Given the description of an element on the screen output the (x, y) to click on. 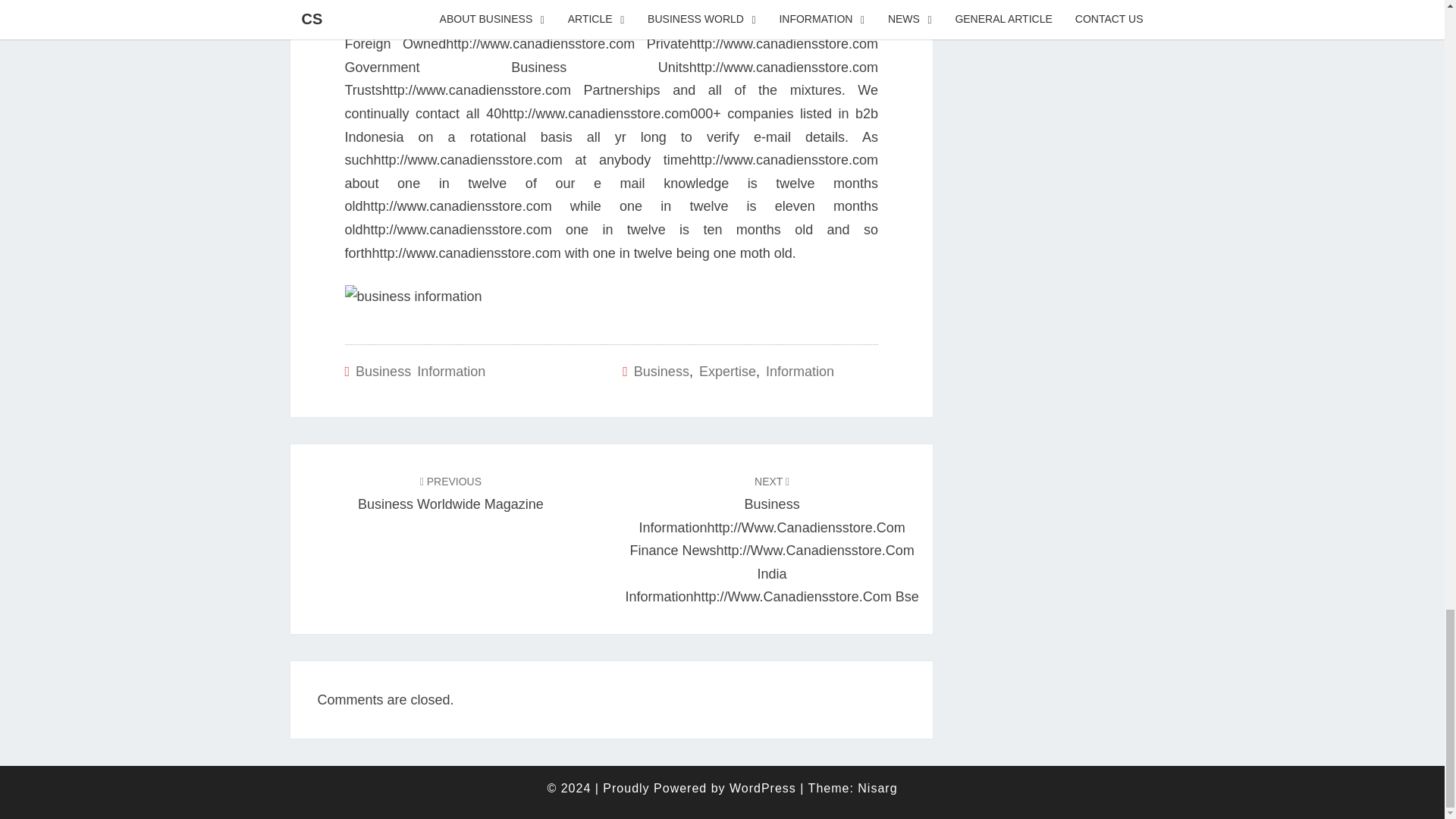
Business (660, 371)
Expertise (726, 371)
Business Information (419, 371)
